Given the description of an element on the screen output the (x, y) to click on. 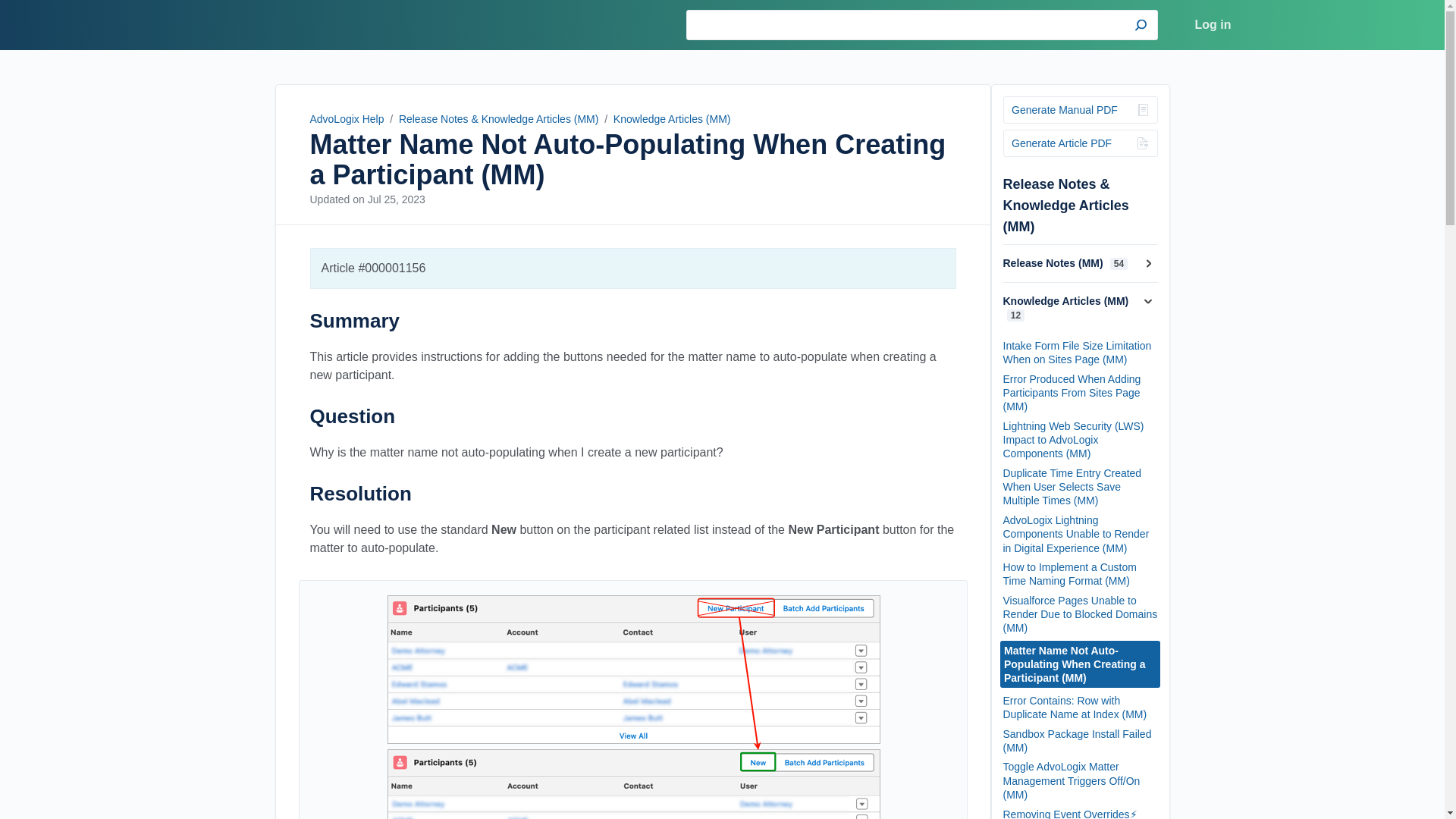
Generate Manual PDF (1080, 109)
Log in (1213, 25)
AdvoLogix Help (285, 24)
Generate Article PDF (1080, 143)
AdvoLogix Help (285, 24)
July 25, 2023 at 8:31am  (396, 199)
AdvoLogix Help (346, 119)
